Given the description of an element on the screen output the (x, y) to click on. 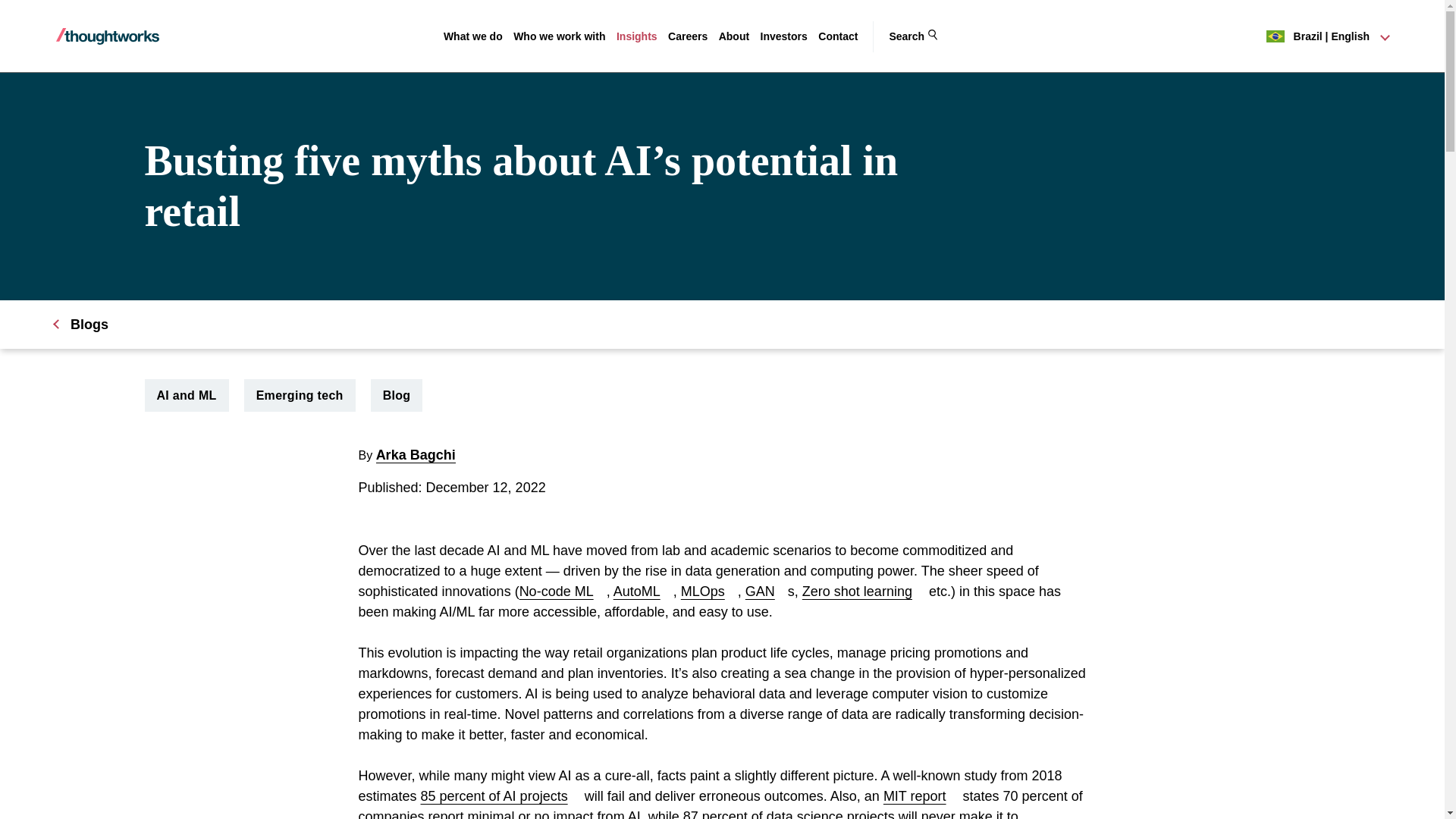
Careers (687, 36)
Thoughtworks (107, 36)
Insights (636, 36)
Who we work with (559, 36)
Careers (687, 36)
Who we work with (559, 36)
Insights (636, 36)
What we do (473, 36)
Thoughtworks (107, 36)
What we do (473, 36)
